Given the description of an element on the screen output the (x, y) to click on. 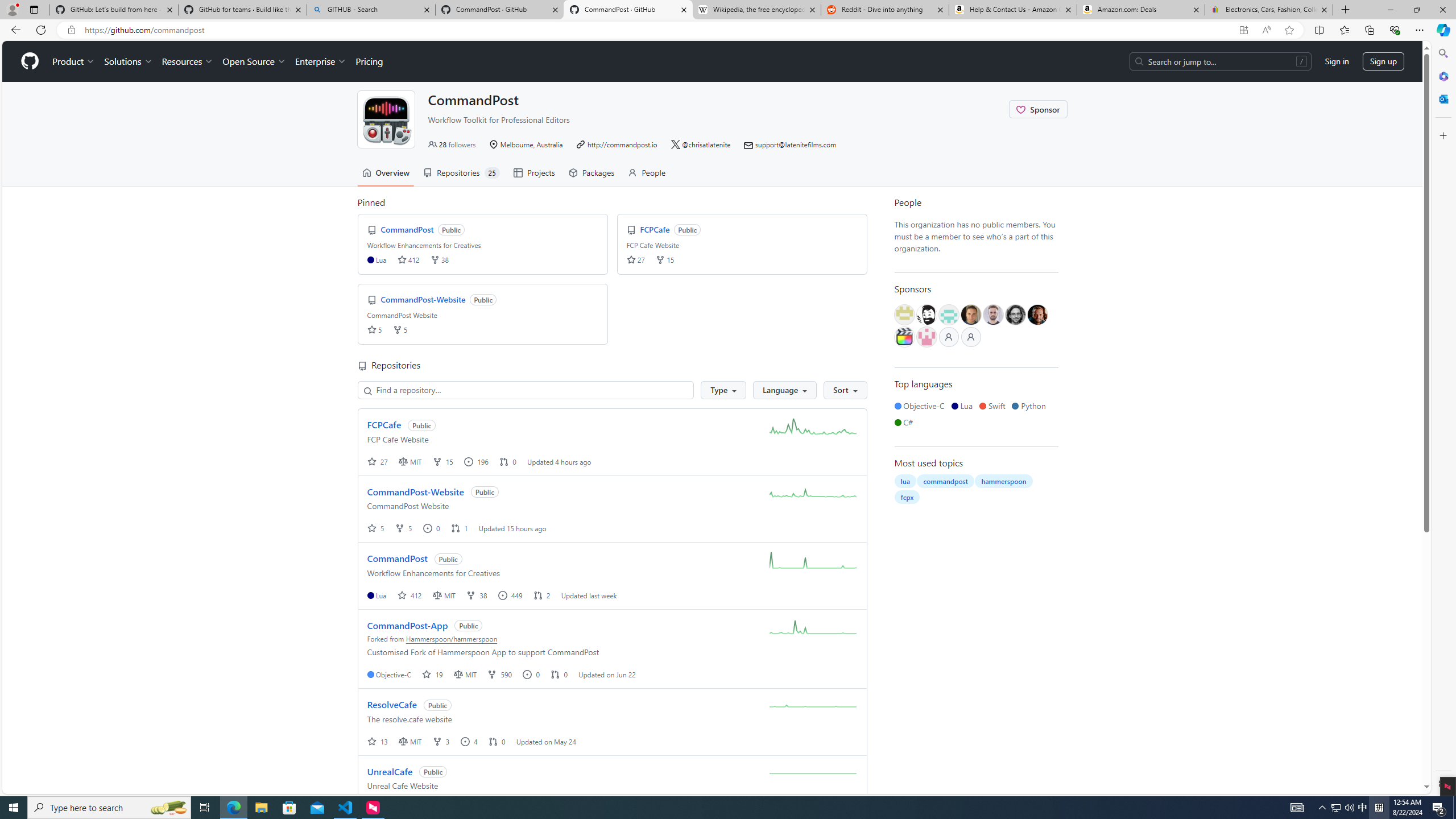
Homepage (29, 61)
forks (397, 329)
@jbrunson83 (925, 314)
